Given the description of an element on the screen output the (x, y) to click on. 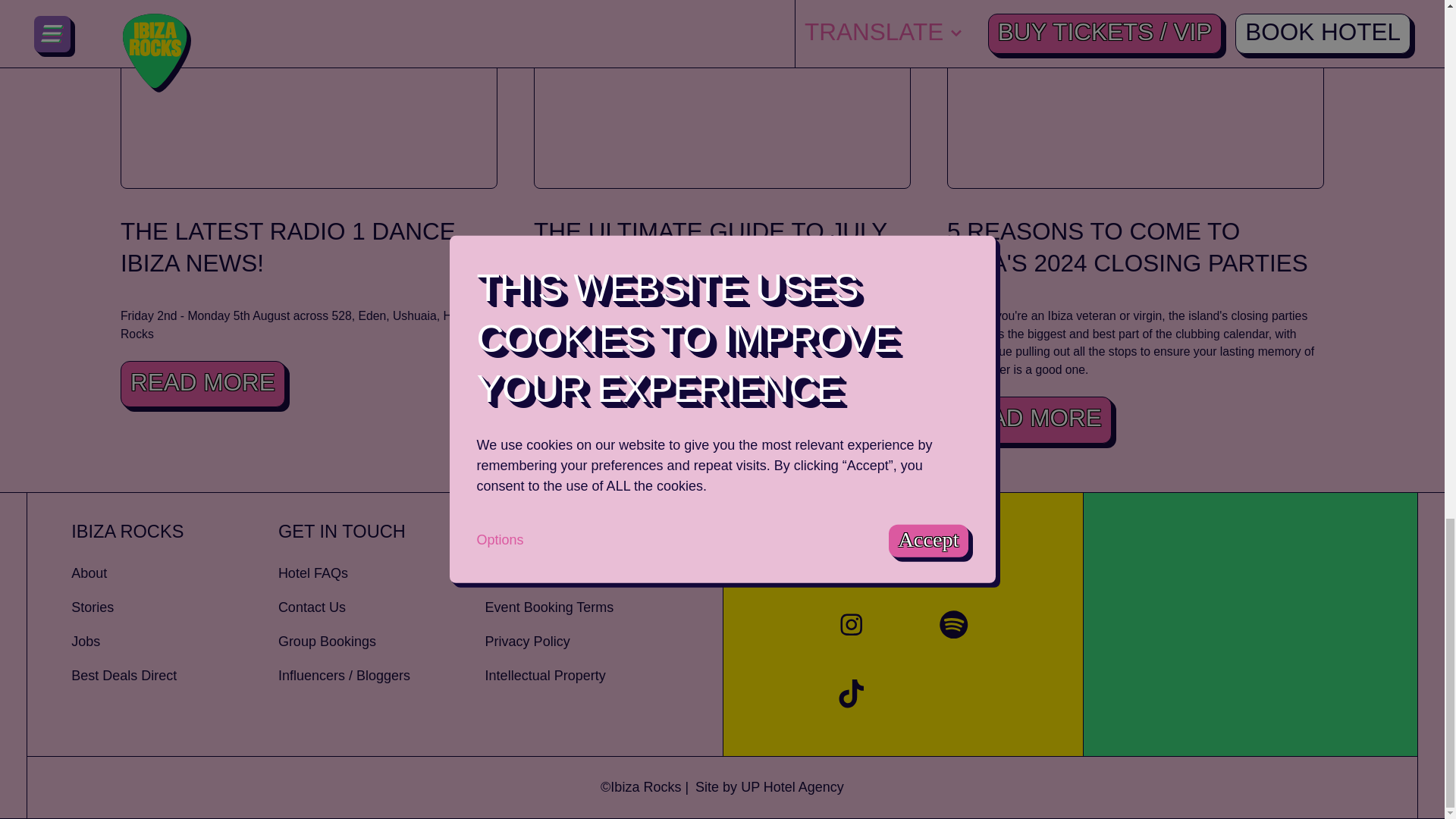
Stories (174, 607)
READ MORE (1029, 419)
READ MORE (202, 384)
IBIZA ROCKS (174, 531)
Jobs (174, 641)
READ MORE (616, 366)
About (174, 573)
